Given the description of an element on the screen output the (x, y) to click on. 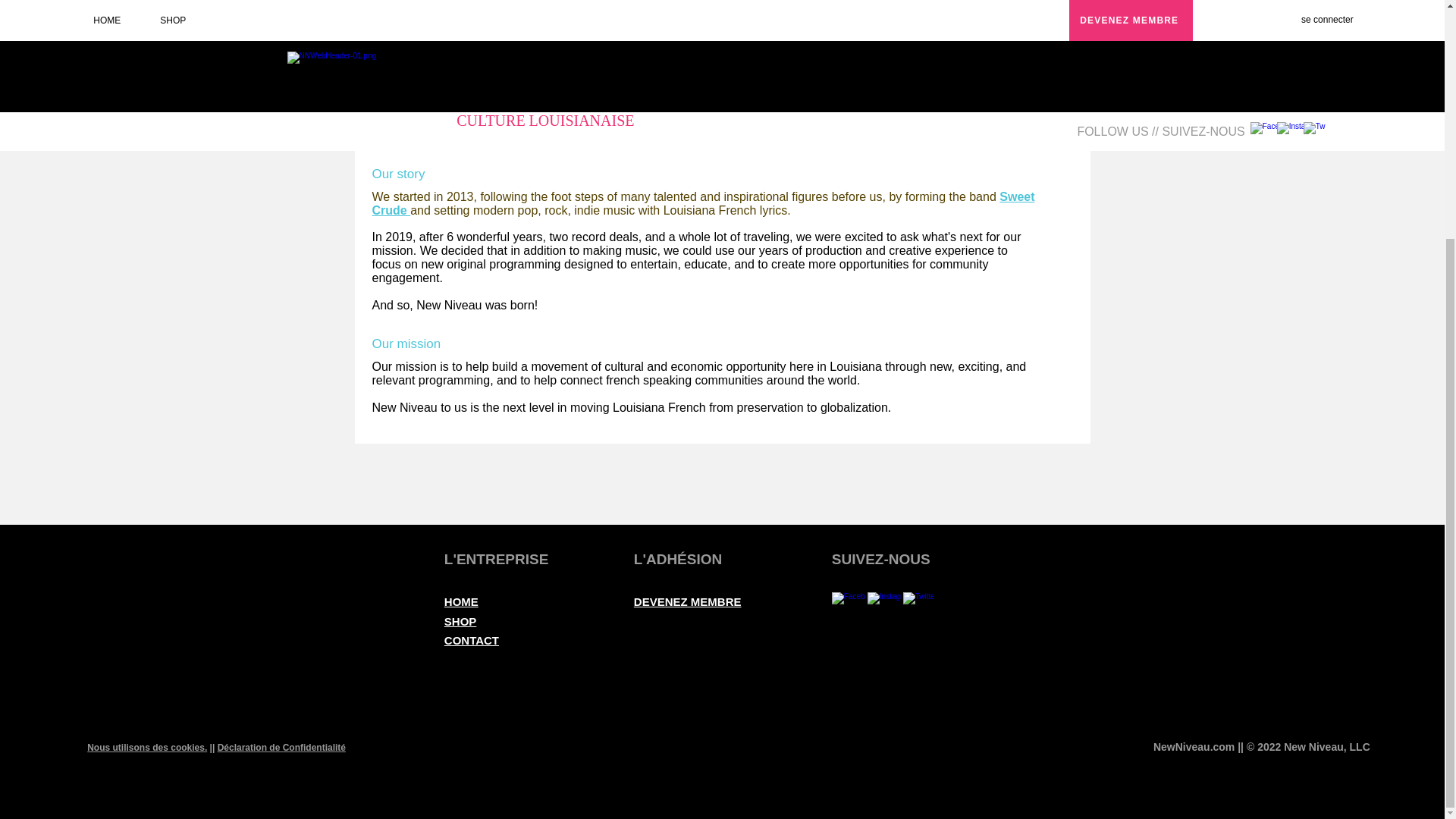
HOME (461, 601)
Nous utilisons des cookies. (146, 747)
Sweet Crude (702, 203)
SHOP (460, 621)
DEVENEZ MEMBRE (687, 601)
CONTACT (471, 640)
